Given the description of an element on the screen output the (x, y) to click on. 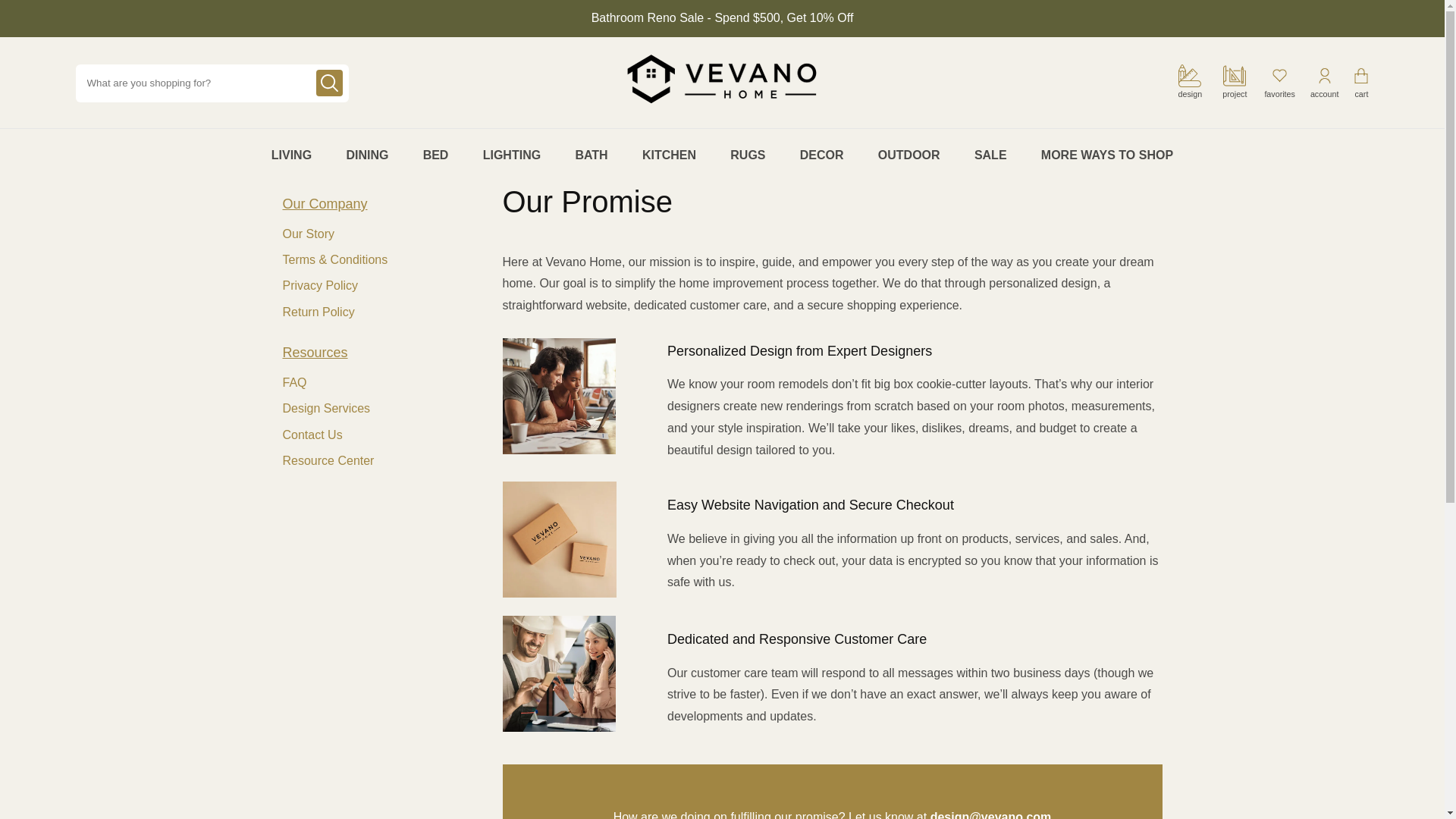
default alt tag (558, 539)
LIVING (290, 154)
default alt tag (558, 673)
SKIP TO CONTENT (29, 7)
